Given the description of an element on the screen output the (x, y) to click on. 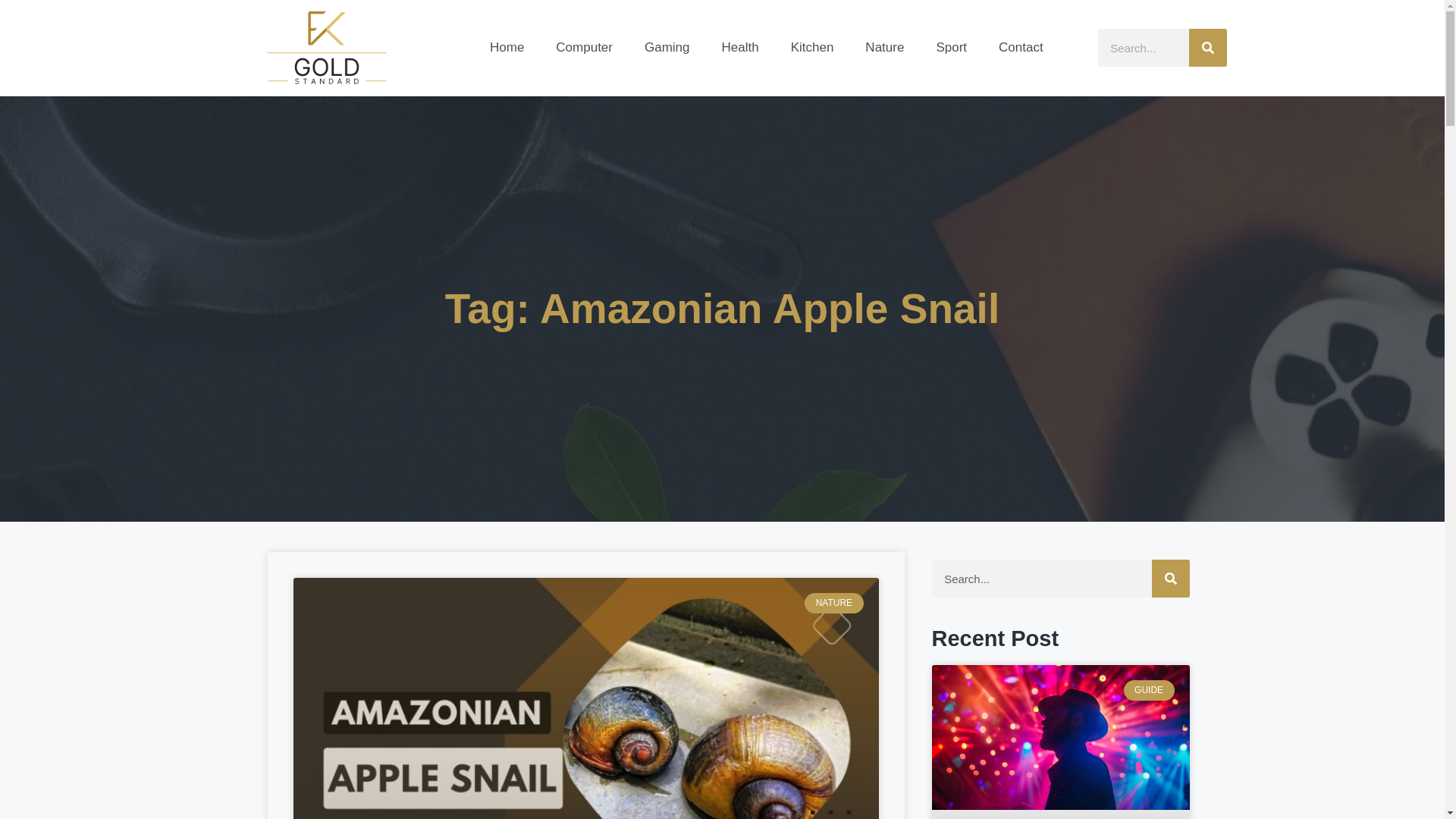
Sport (950, 47)
Nature (884, 47)
Gaming (666, 47)
Health (740, 47)
Contact (1021, 47)
Home (506, 47)
Kitchen (812, 47)
Computer (583, 47)
